Given the description of an element on the screen output the (x, y) to click on. 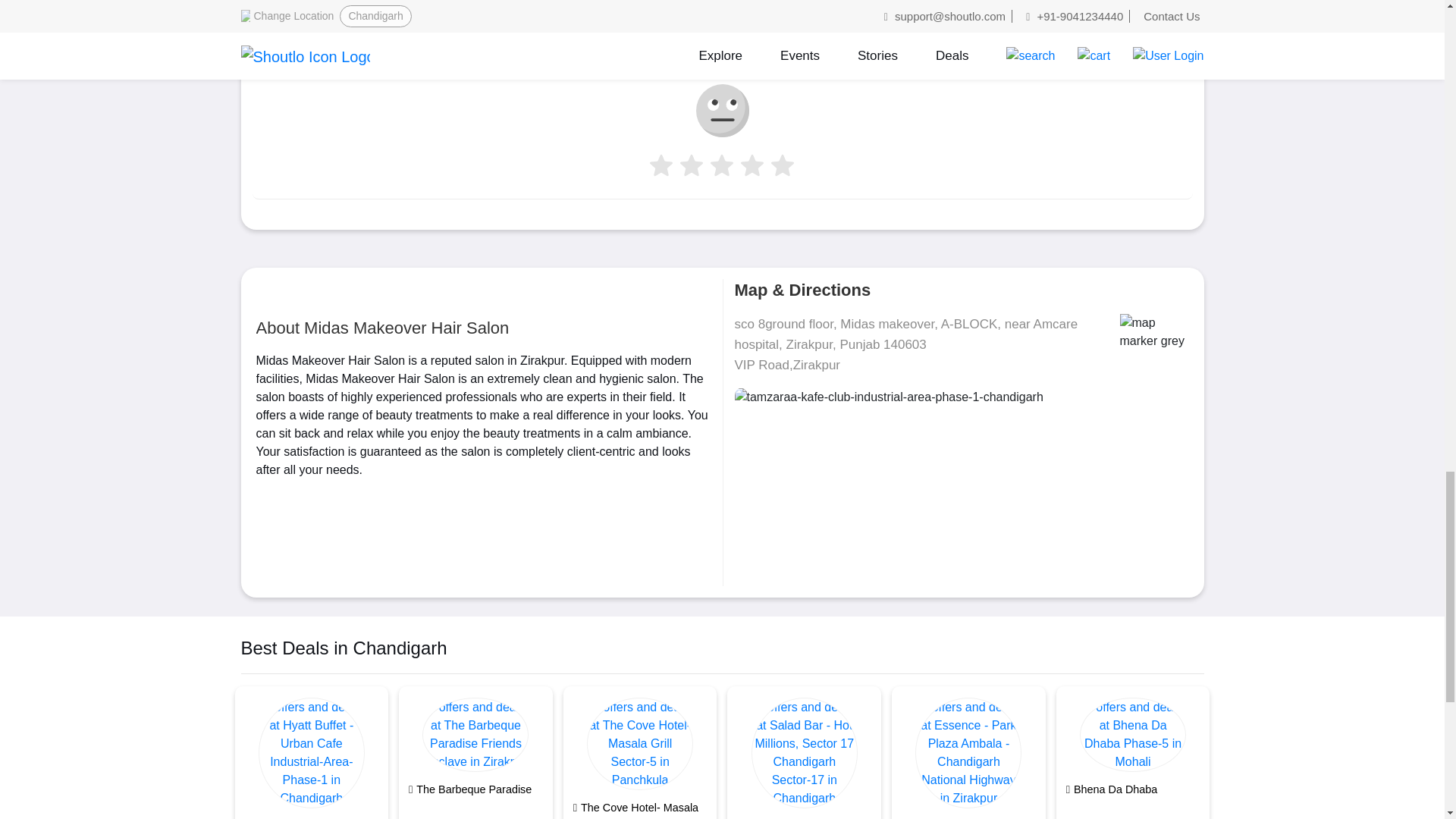
offers and deals at Bhena Da Dhaba Phase-5 in Mohali (1133, 734)
